Given the description of an element on the screen output the (x, y) to click on. 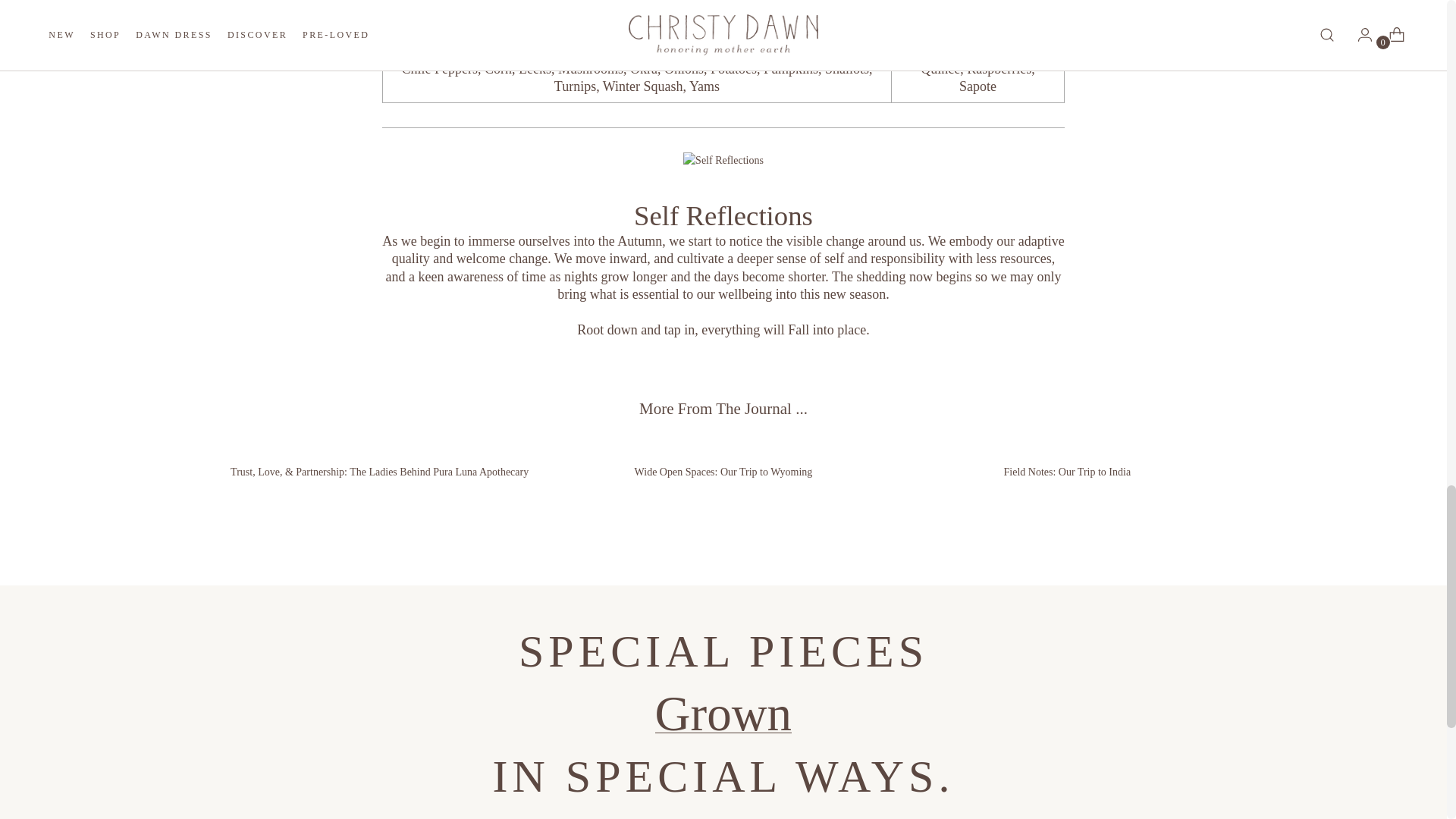
Wide Open Spaces: Our Trip to Wyoming (722, 461)
Field Notes: Our Trip to India (1067, 461)
